Given the description of an element on the screen output the (x, y) to click on. 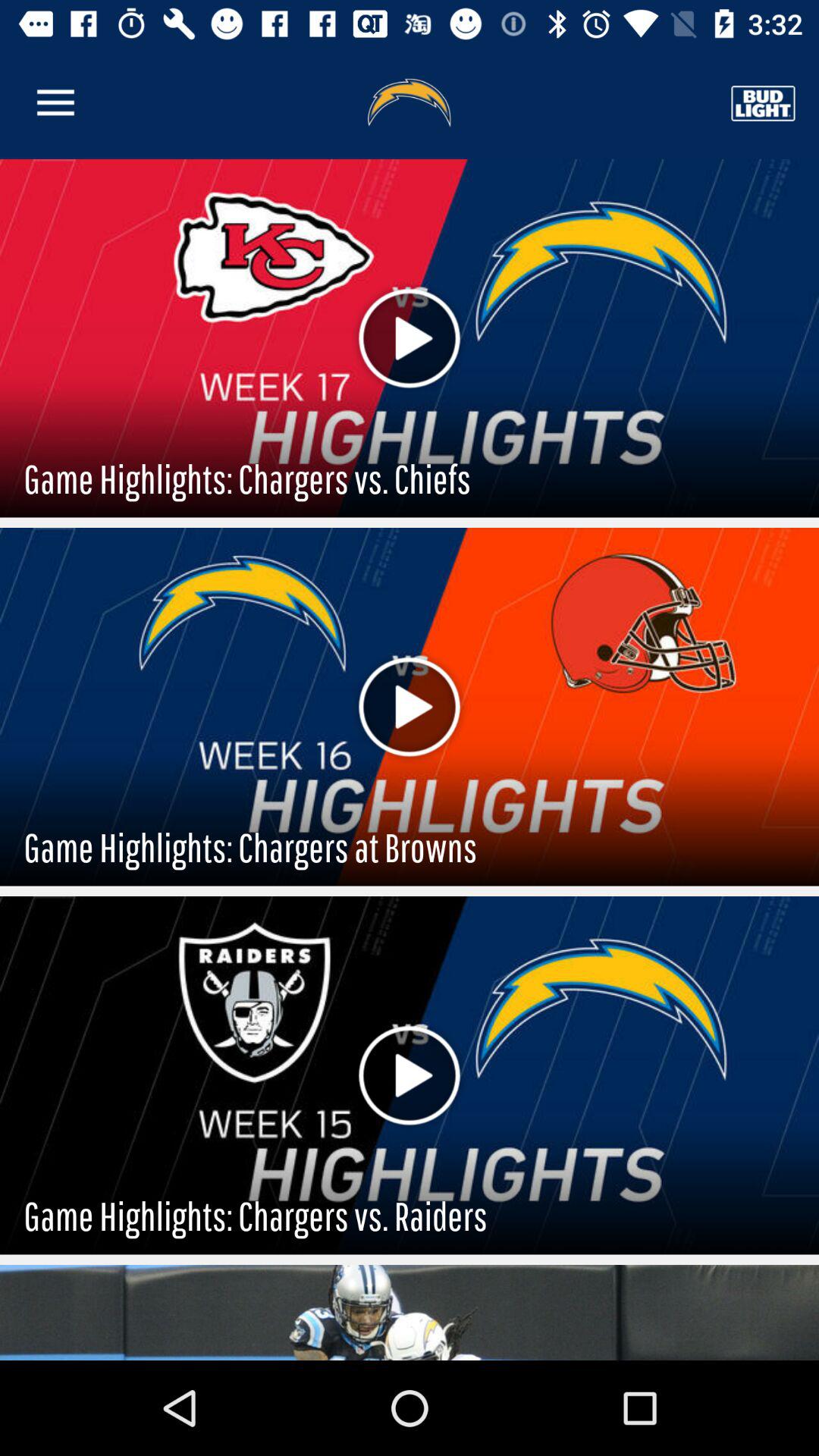
launch icon at the top left corner (55, 103)
